Given the description of an element on the screen output the (x, y) to click on. 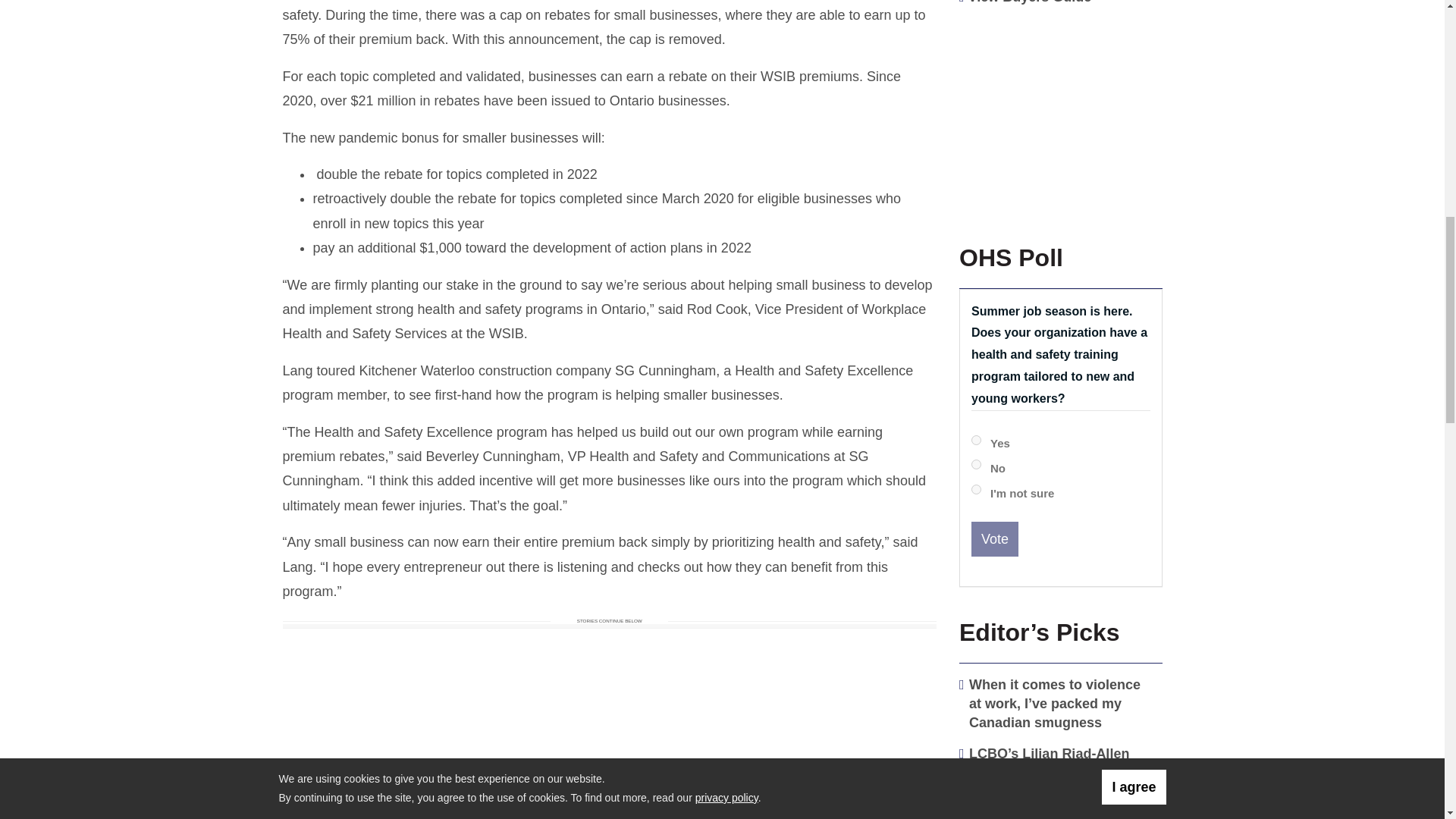
gpoll135233128 (976, 439)
3rd party ad content (1057, 113)
Vote (994, 538)
gpoll141fdf755 (976, 489)
gpoll188dfb902 (976, 464)
